Given the description of an element on the screen output the (x, y) to click on. 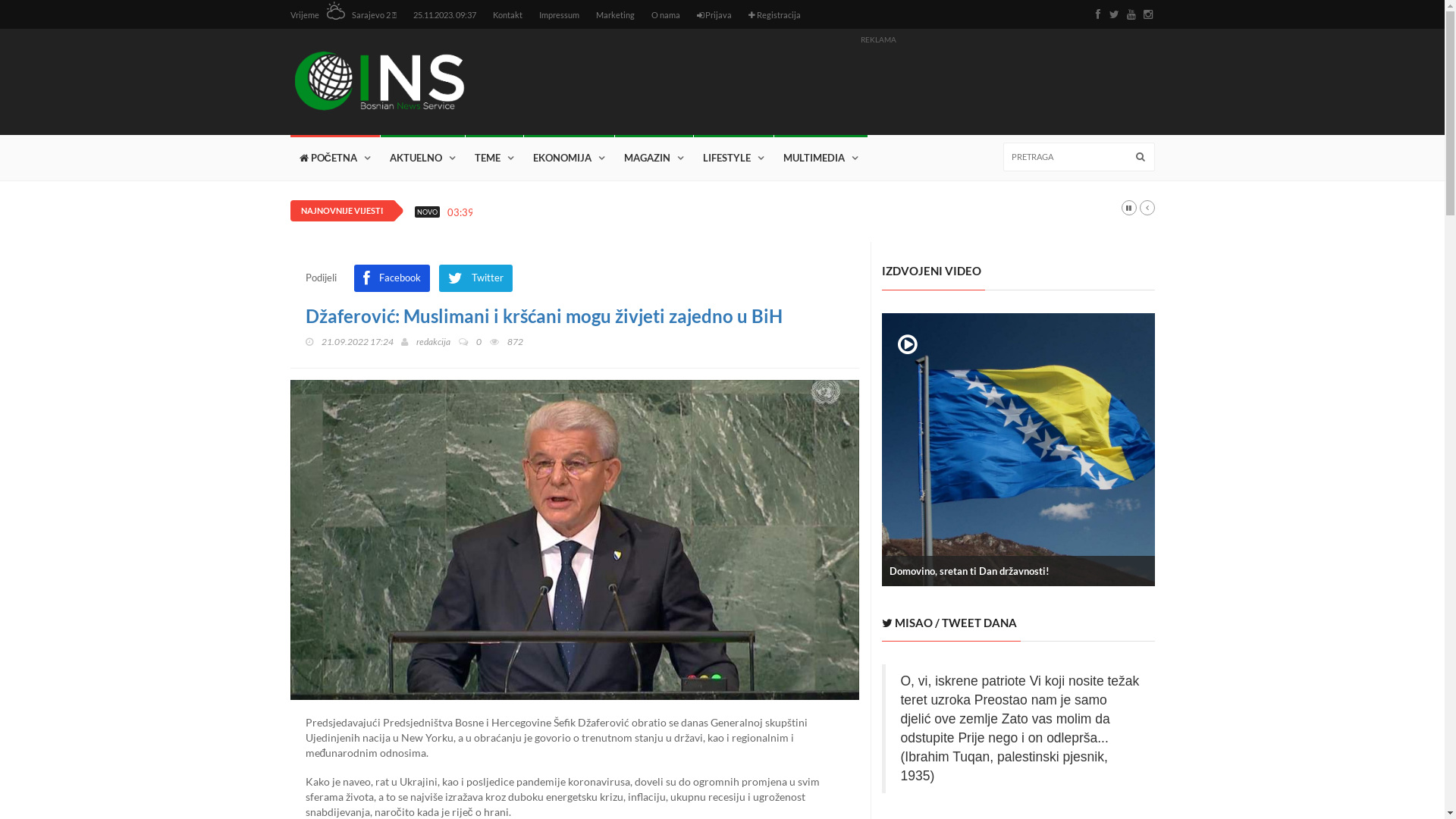
TEME Element type: text (494, 157)
EKONOMIJA Element type: text (569, 157)
MAGAZIN Element type: text (654, 157)
LIFESTYLE Element type: text (733, 157)
Registracija Element type: text (774, 14)
Facebook Element type: text (391, 277)
MULTIMEDIA Element type: text (820, 157)
Twitter Element type: text (475, 277)
Kontakt Element type: text (507, 14)
Marketing Element type: text (615, 14)
redakcija Element type: text (433, 341)
AKTUELNO Element type: text (422, 157)
O nama Element type: text (665, 14)
Impressum Element type: text (559, 14)
Advertisement Element type: hover (878, 84)
0 Element type: text (469, 341)
Prijava Element type: text (713, 14)
